Given the description of an element on the screen output the (x, y) to click on. 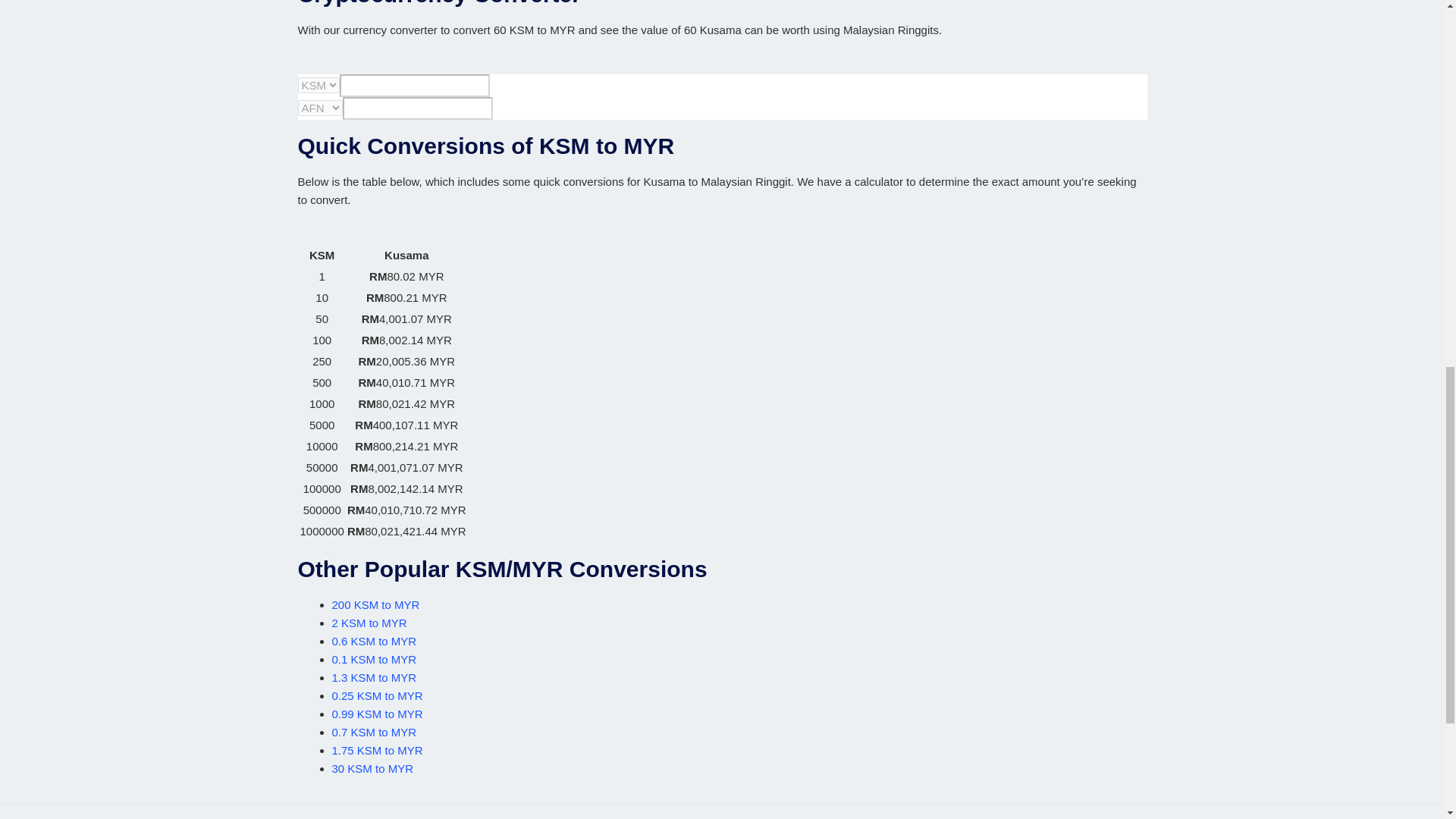
30 KSM to MYR (372, 768)
1.75 KSM to MYR (377, 749)
0.99 KSM to MYR (377, 713)
0.25 KSM to MYR (377, 695)
200 KSM to MYR (375, 604)
0.1 KSM to MYR (373, 658)
0.6 KSM to MYR (373, 640)
1.3 KSM to MYR (373, 676)
0.1 KSM to MYR (373, 658)
30 KSM to MYR (372, 768)
